Given the description of an element on the screen output the (x, y) to click on. 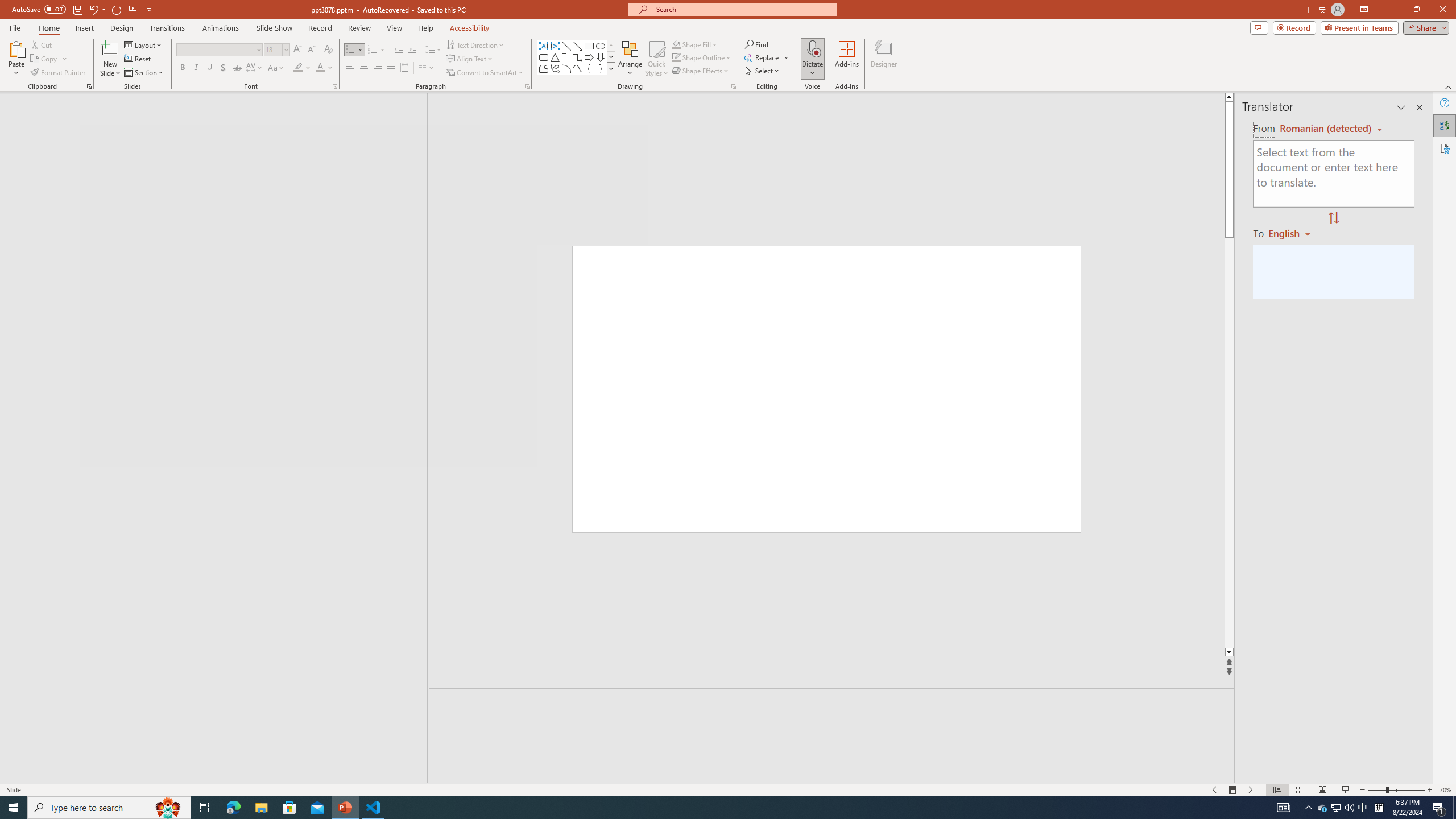
Slide Show Previous On (1214, 790)
